Given the description of an element on the screen output the (x, y) to click on. 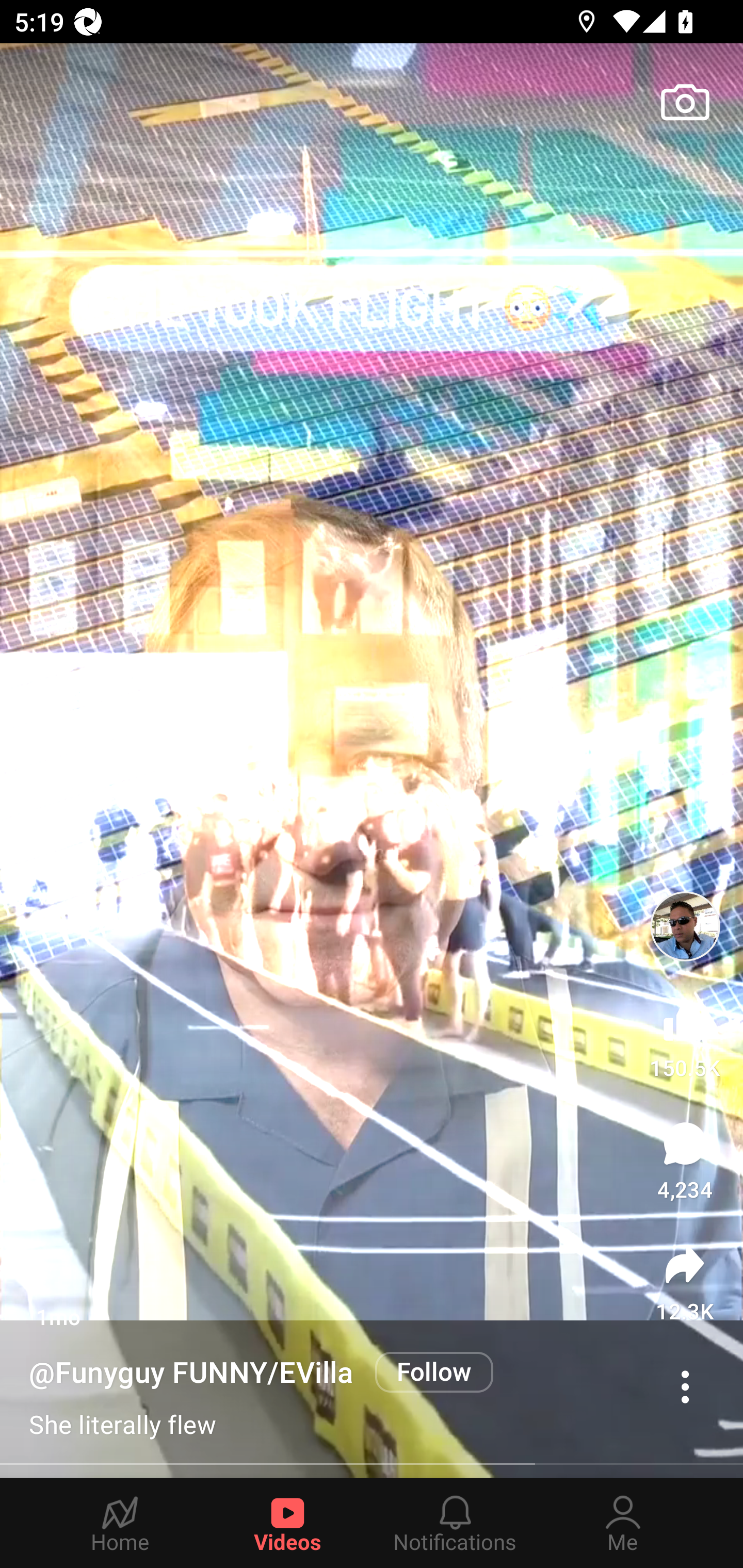
150.5K (684, 1035)
4,234 (685, 1160)
12.3K (685, 1282)
Follow (434, 1371)
@Funyguy FUNNY/EVilla  (194, 1373)
Home (119, 1522)
Notifications (455, 1522)
Me (622, 1522)
